Given the description of an element on the screen output the (x, y) to click on. 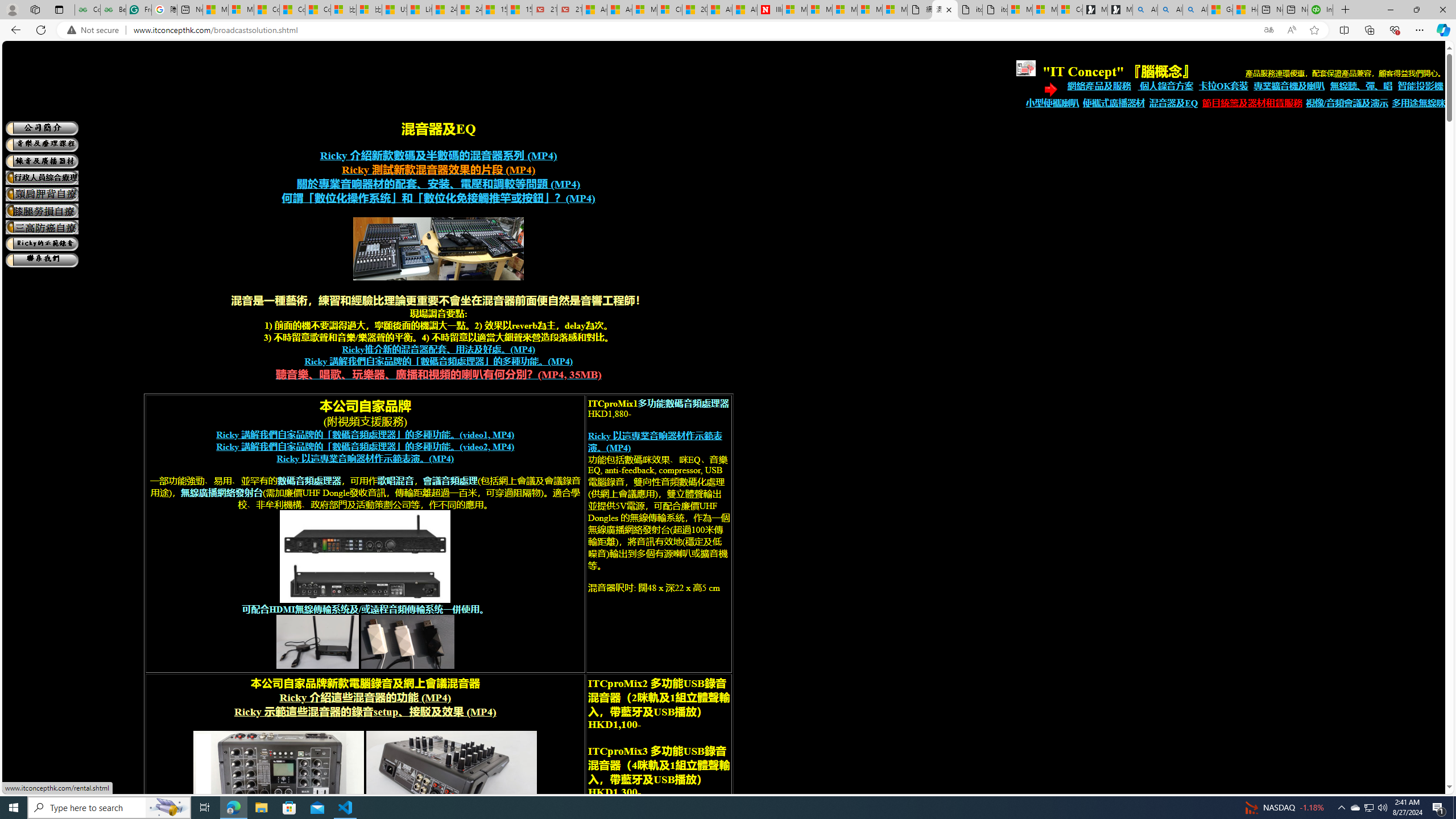
Best SSL Certificates Provider in India - GeeksforGeeks (113, 9)
Not secure (95, 29)
20 Ways to Boost Your Protein Intake at Every Meal (694, 9)
